Given the description of an element on the screen output the (x, y) to click on. 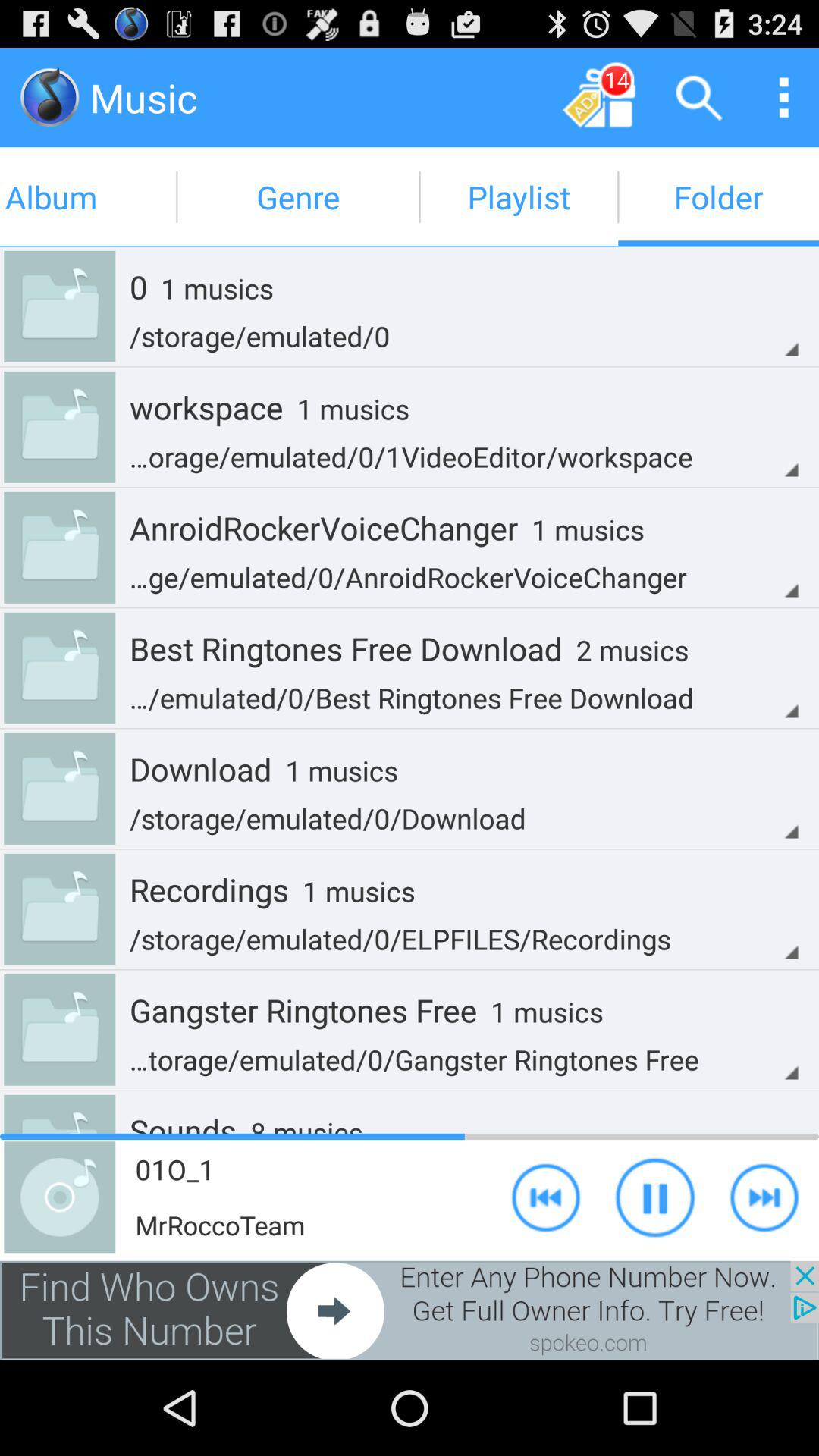
skip to next (764, 1196)
